Given the description of an element on the screen output the (x, y) to click on. 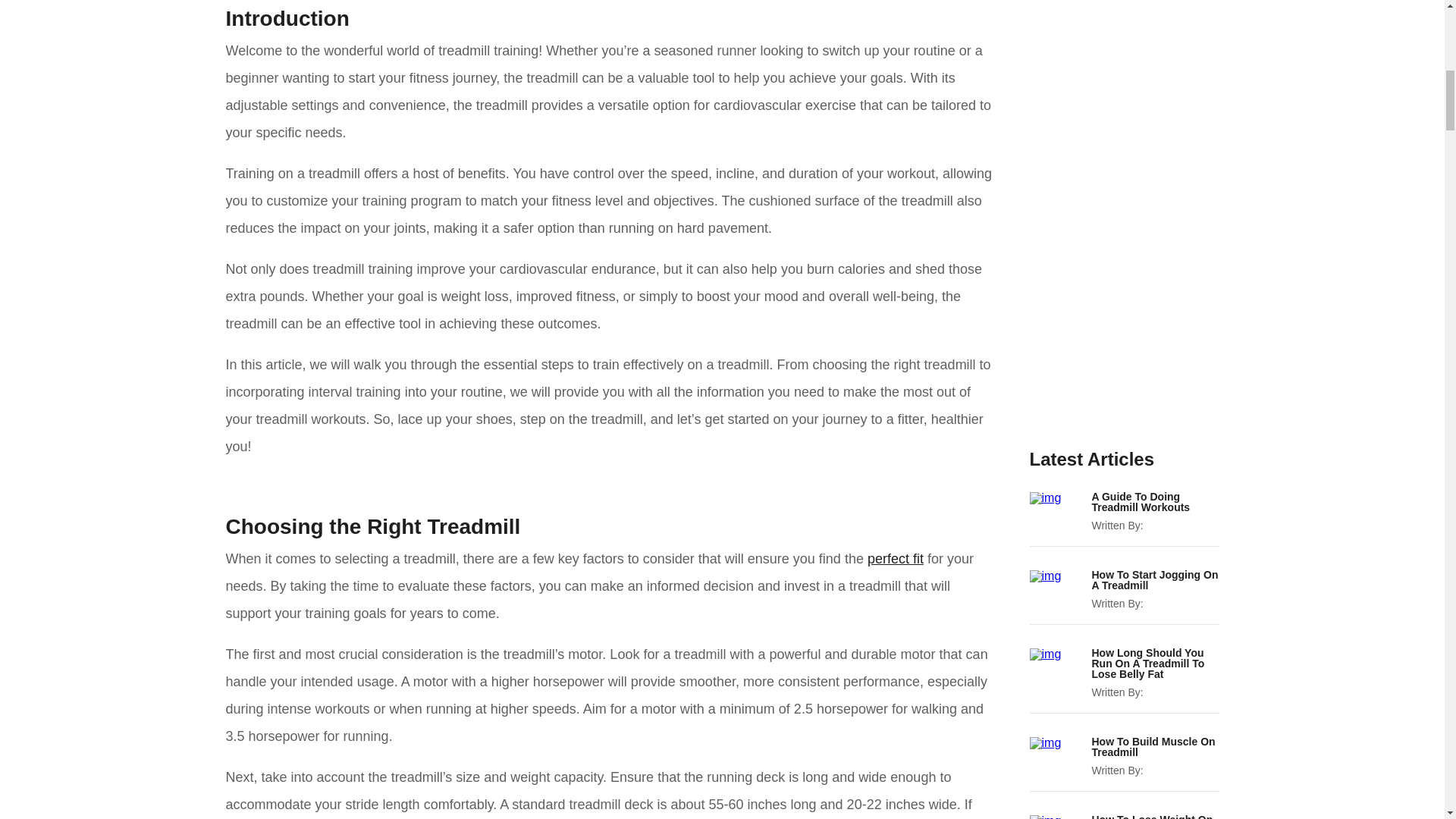
perfect fit (895, 558)
